Given the description of an element on the screen output the (x, y) to click on. 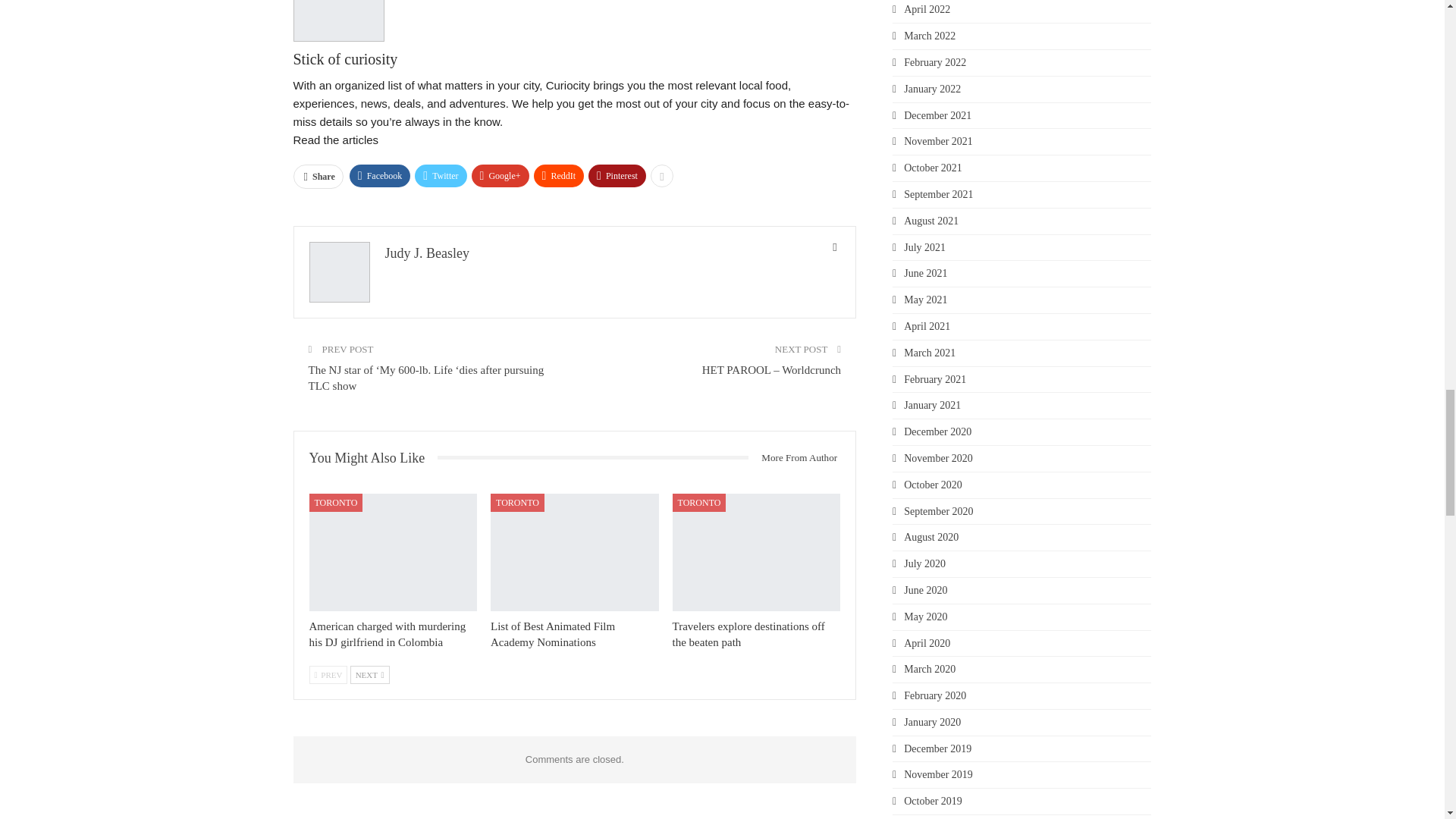
List of Best Animated Film Academy Nominations (574, 551)
More From Author (794, 457)
List of Best Animated Film Academy Nominations (552, 633)
Twitter (439, 175)
Judy J. Beasley (427, 253)
Previous (327, 674)
ReddIt (559, 175)
curiocity-author-image (338, 20)
You Might Also Like (373, 458)
Travelers explore destinations off the beaten path (756, 551)
Next (370, 674)
Facebook (379, 175)
Travelers explore destinations off the beaten path (748, 633)
TORONTO (335, 502)
